Given the description of an element on the screen output the (x, y) to click on. 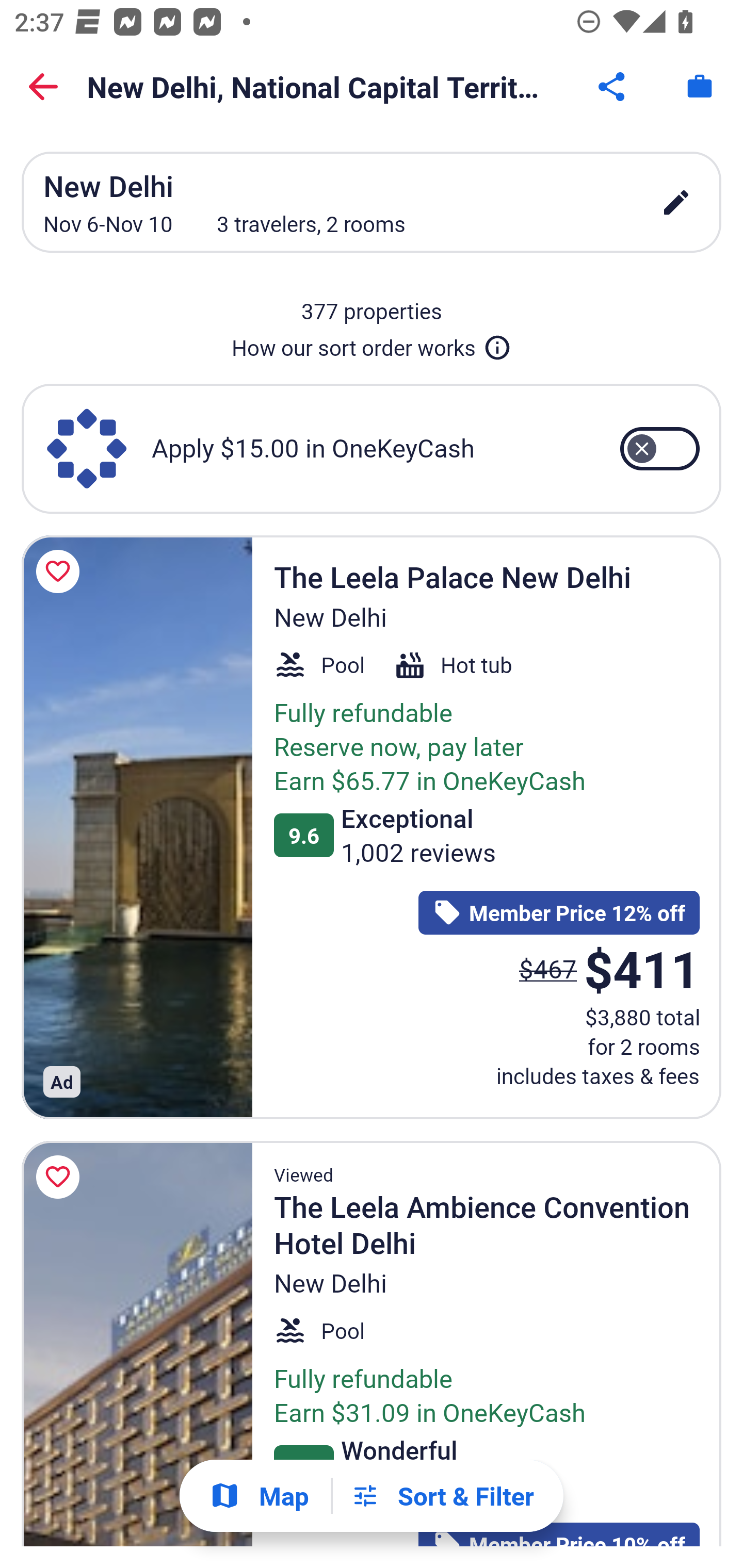
Back (43, 86)
Share Button (612, 86)
Trips. Button (699, 86)
New Delhi Nov 6-Nov 10 3 travelers, 2 rooms edit (371, 202)
How our sort order works (371, 344)
Save The Leela Palace New Delhi to a trip (61, 571)
The Leela Palace New Delhi (136, 826)
$467 The price was $467 (547, 968)
The Leela Ambience Convention Hotel Delhi  (136, 1343)
Filters Sort & Filter Filters Button (442, 1495)
Show map Map Show map Button (258, 1495)
